Given the description of an element on the screen output the (x, y) to click on. 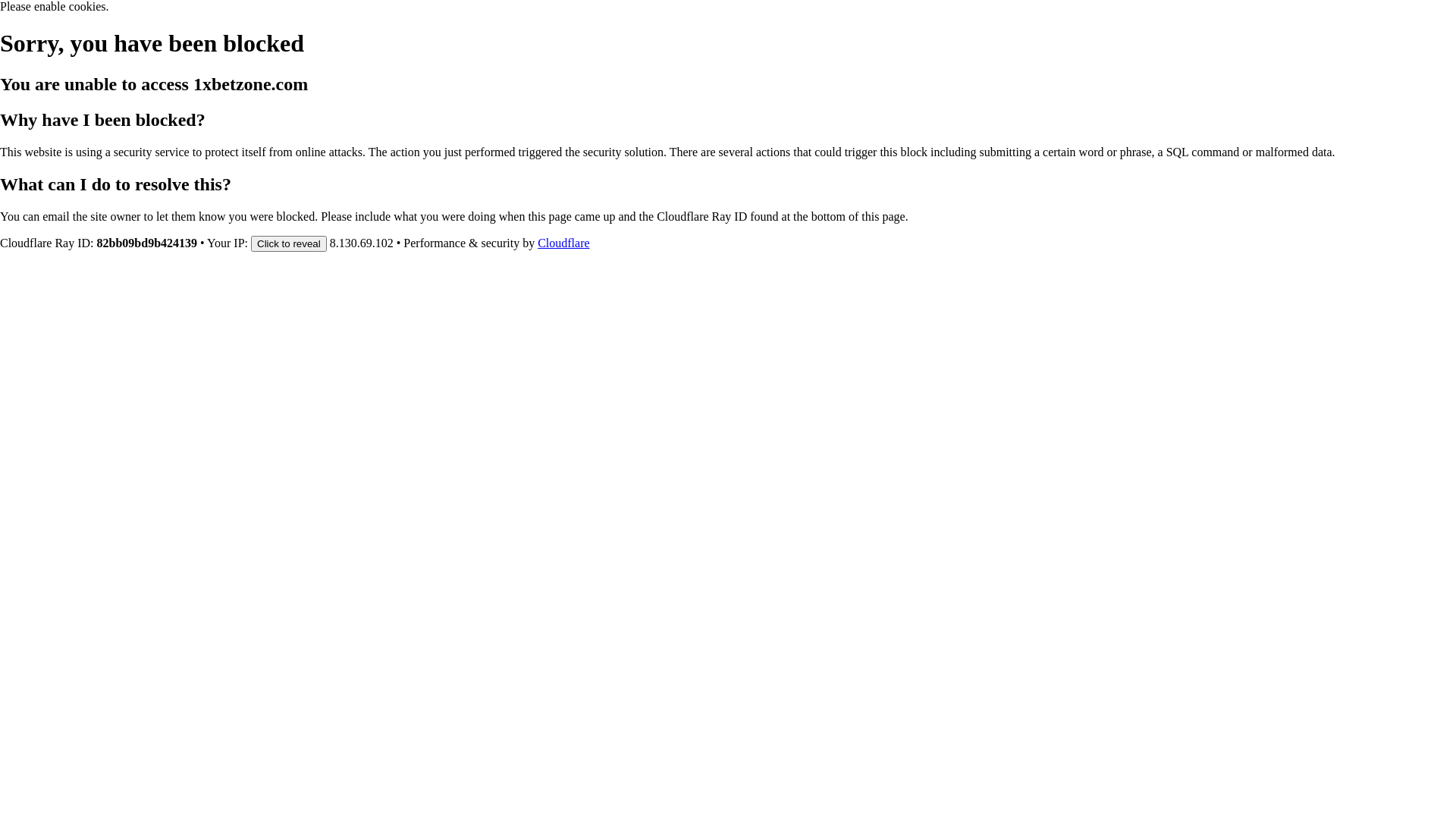
Click to reveal Element type: text (288, 243)
Cloudflare Element type: text (563, 242)
